Given the description of an element on the screen output the (x, y) to click on. 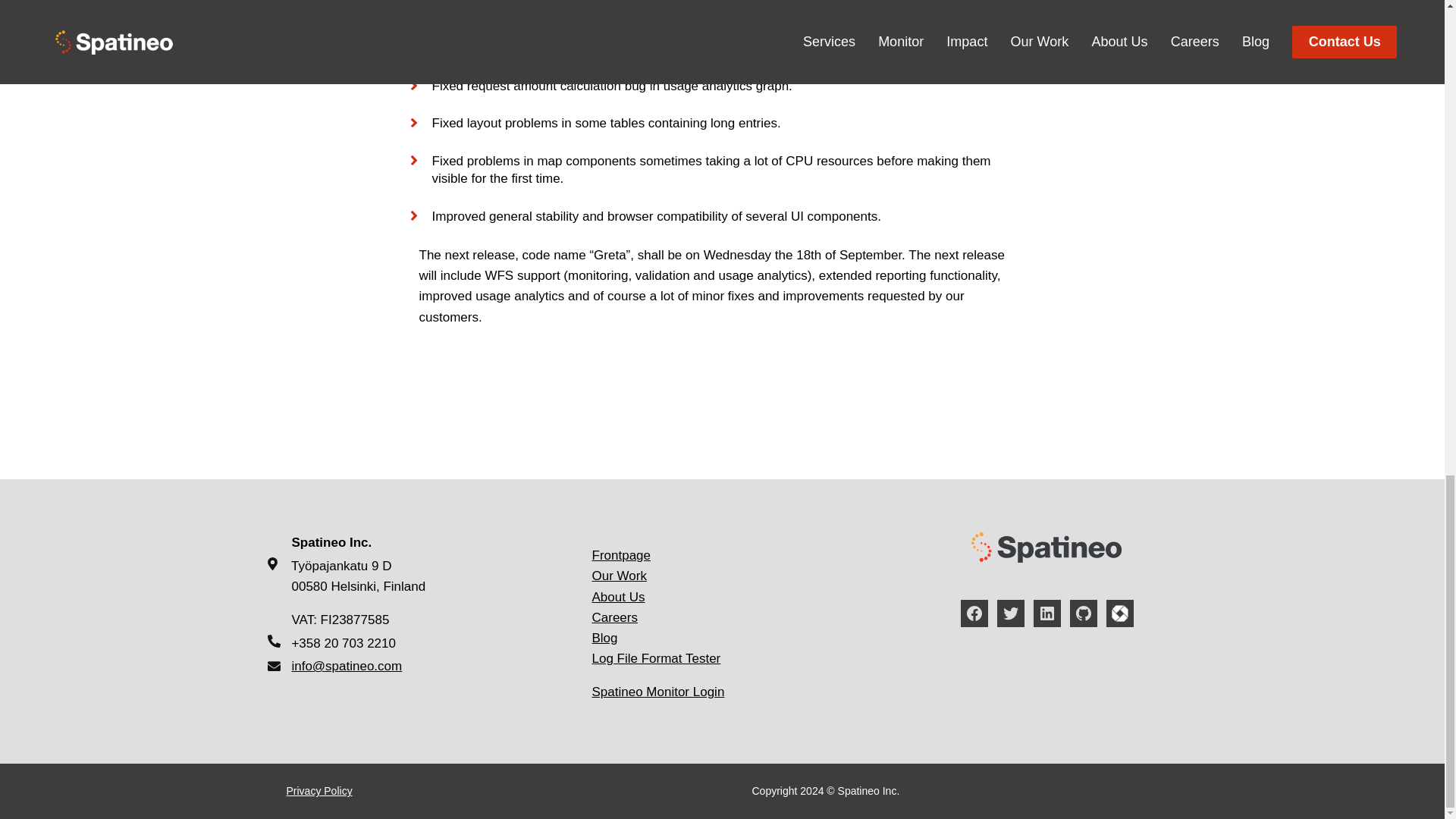
Log File Format Tester (655, 658)
Careers (614, 617)
About Us (618, 596)
Blog (604, 637)
Frontpage (620, 554)
Our Work (618, 575)
Spatineo Monitor Login (657, 691)
